Given the description of an element on the screen output the (x, y) to click on. 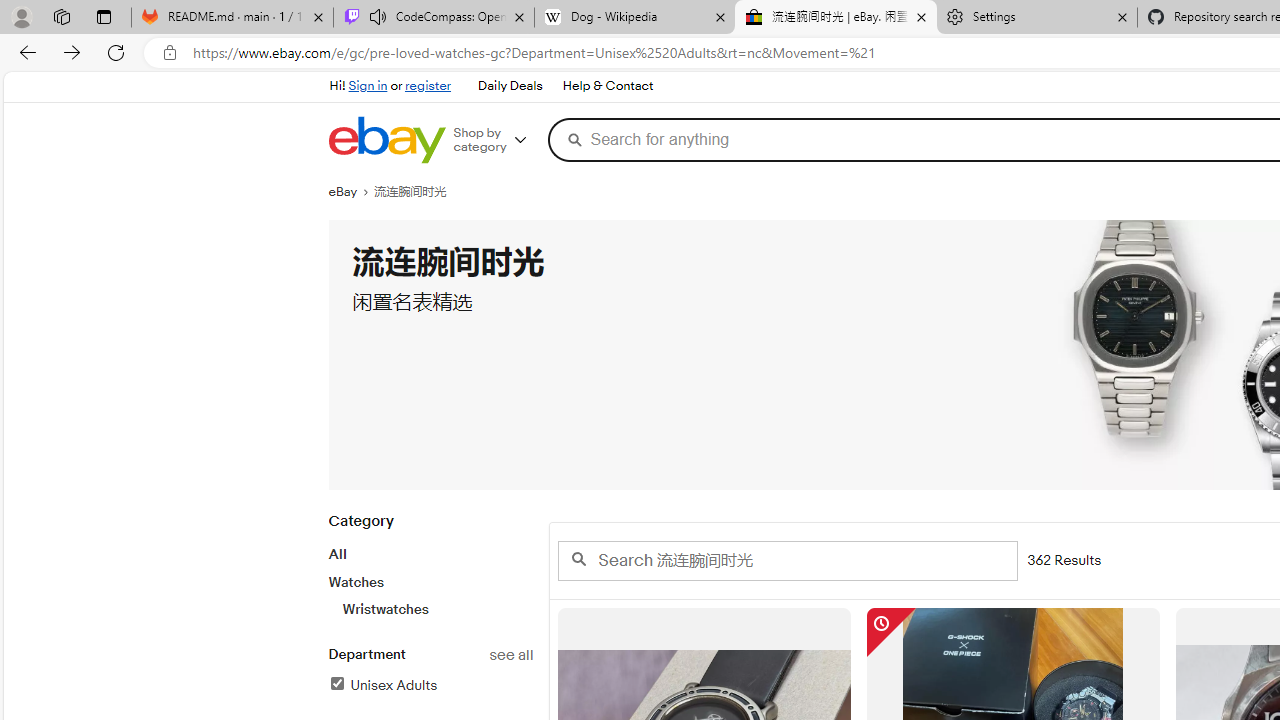
eBay Home (386, 139)
Wristwatches (437, 609)
Mute tab (377, 16)
CategoryAllWatchesWristwatches (430, 576)
Daily Deals (509, 85)
Forward (72, 52)
See all department refinements (510, 655)
eBay (351, 191)
WatchesWristwatches (430, 595)
Departmentsee allUnisex AdultsFilter Applied (430, 681)
Daily Deals (509, 86)
